Given the description of an element on the screen output the (x, y) to click on. 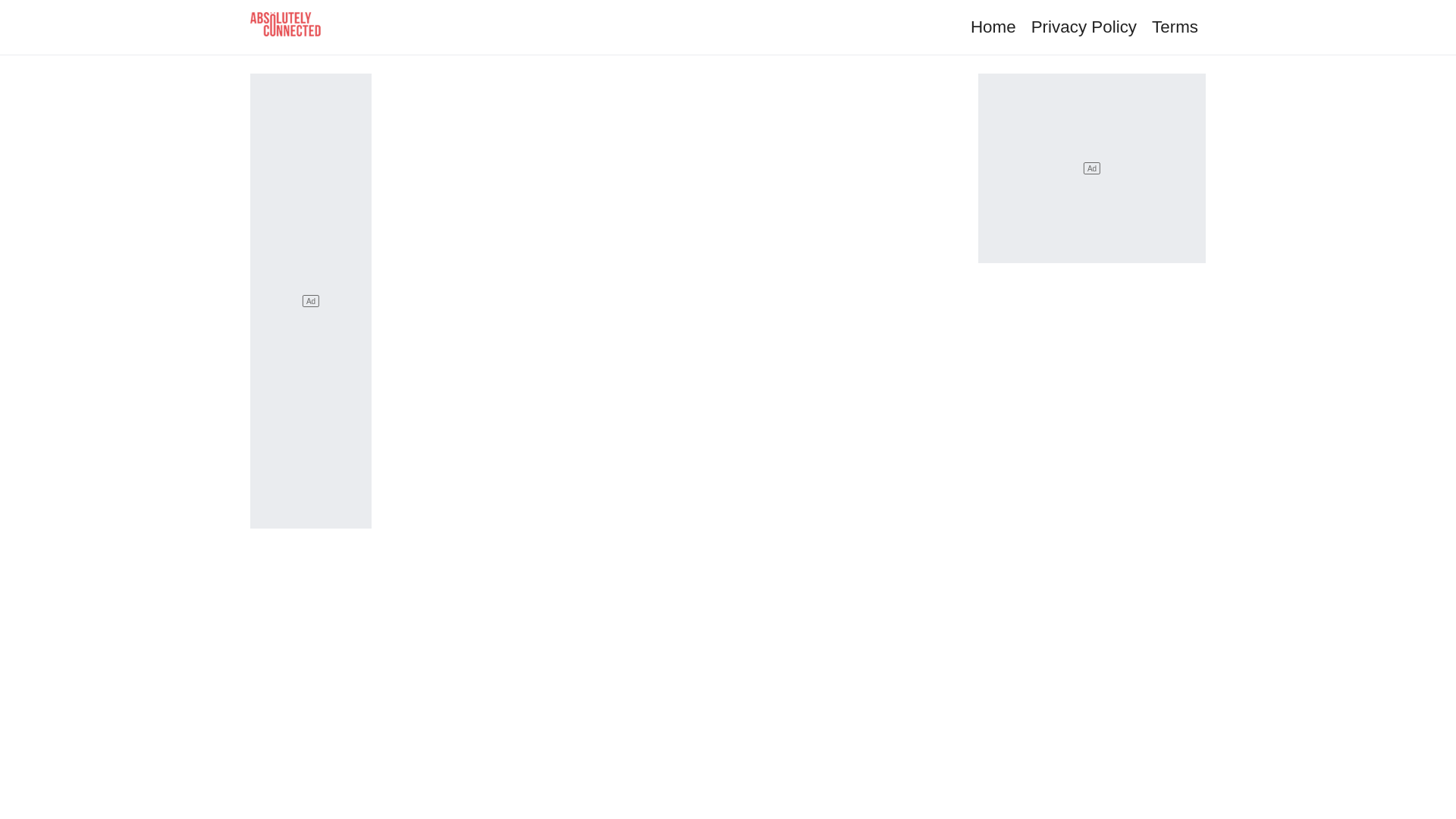
Privacy Policy (1083, 26)
Terms (1174, 26)
Home (993, 26)
